Given the description of an element on the screen output the (x, y) to click on. 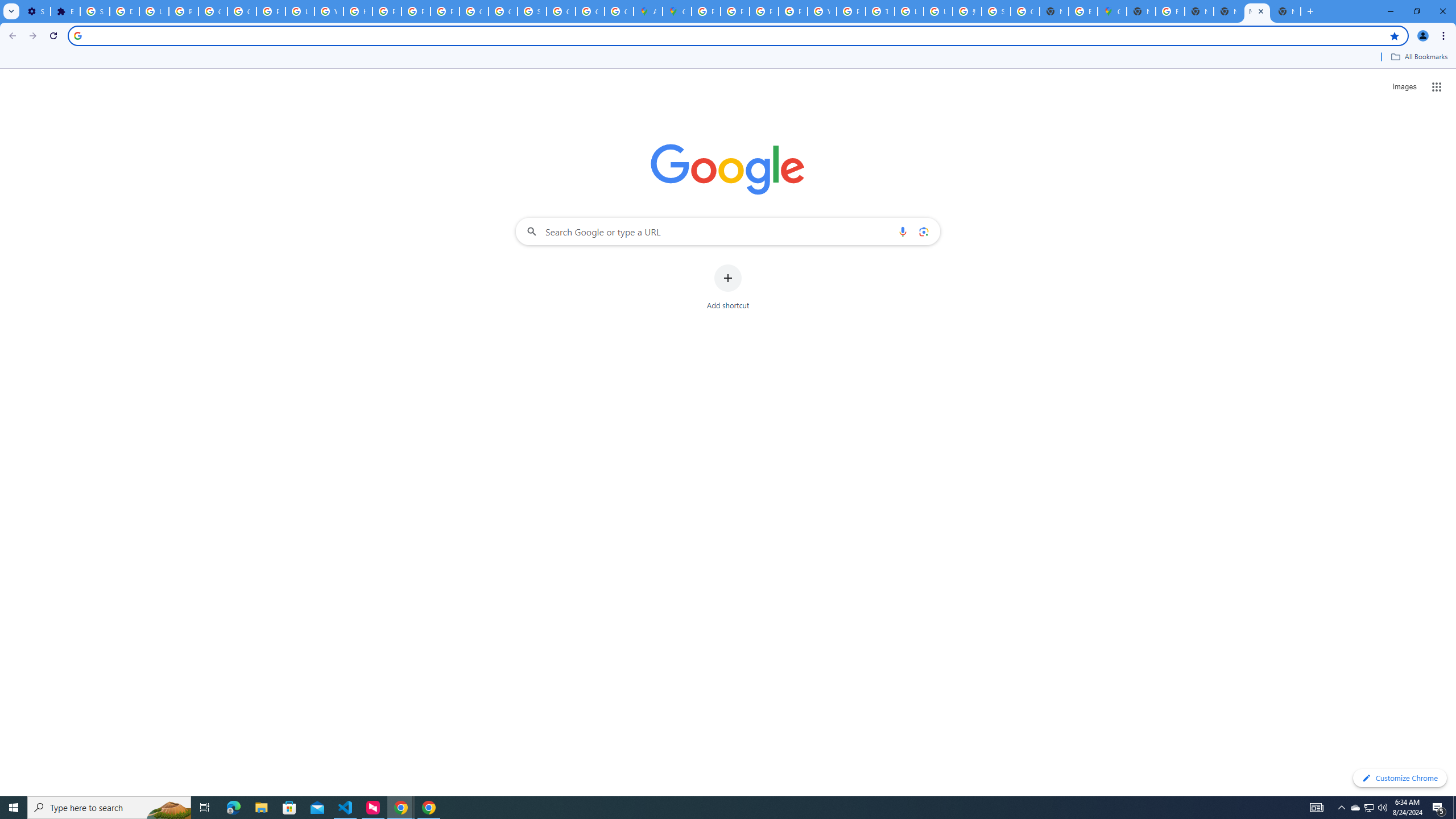
https://scholar.google.com/ (357, 11)
Privacy Help Center - Policies Help (763, 11)
YouTube (327, 11)
Explore new street-level details - Google Maps Help (1082, 11)
